Given the description of an element on the screen output the (x, y) to click on. 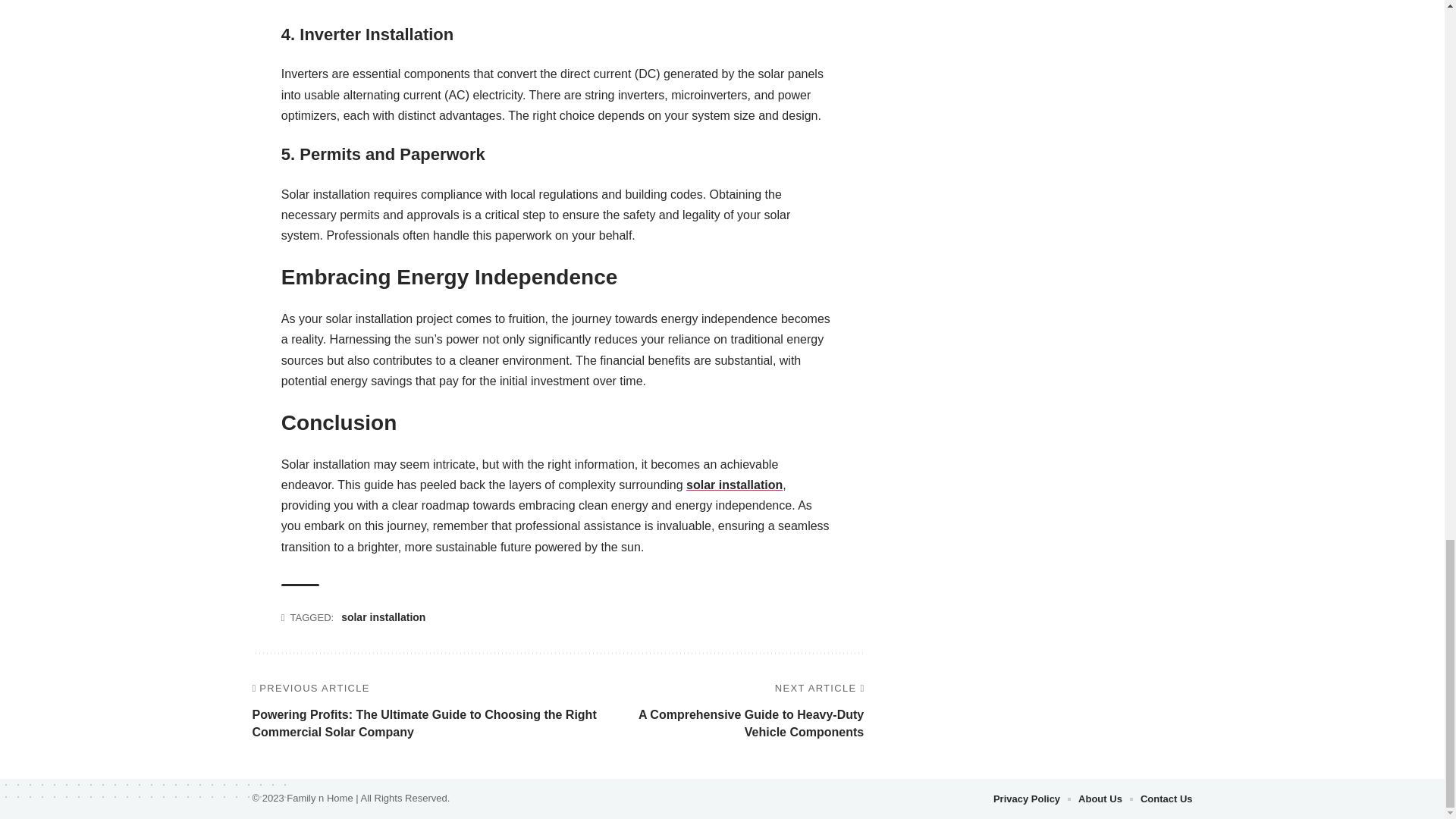
About Us (1100, 798)
solar installation (382, 616)
Privacy Policy (1025, 798)
Contact Us (1166, 798)
solar installation (734, 484)
